Given the description of an element on the screen output the (x, y) to click on. 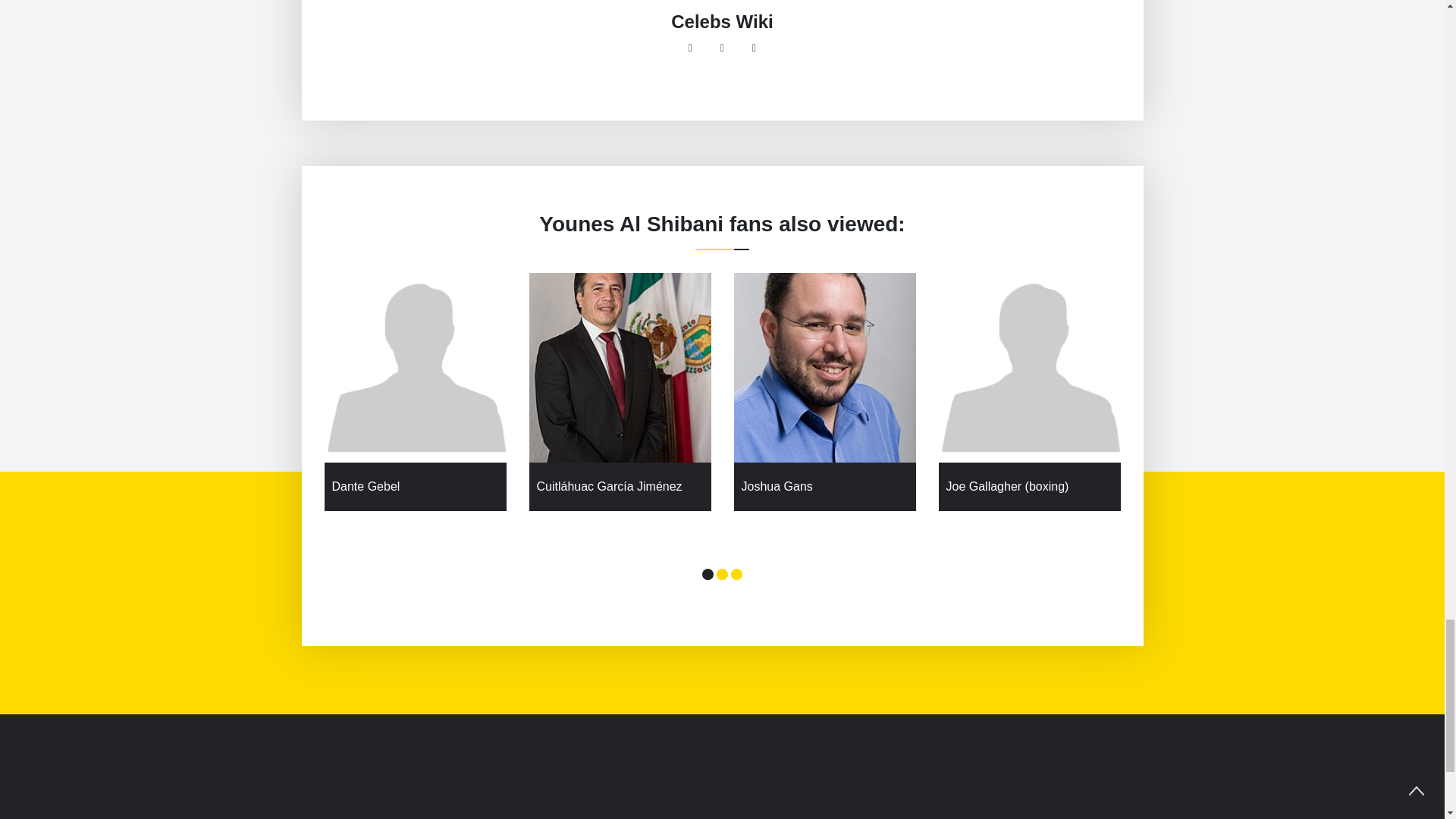
Joshua Gans (824, 486)
Celebs Wiki (722, 21)
Dante Gebel (415, 486)
